Given the description of an element on the screen output the (x, y) to click on. 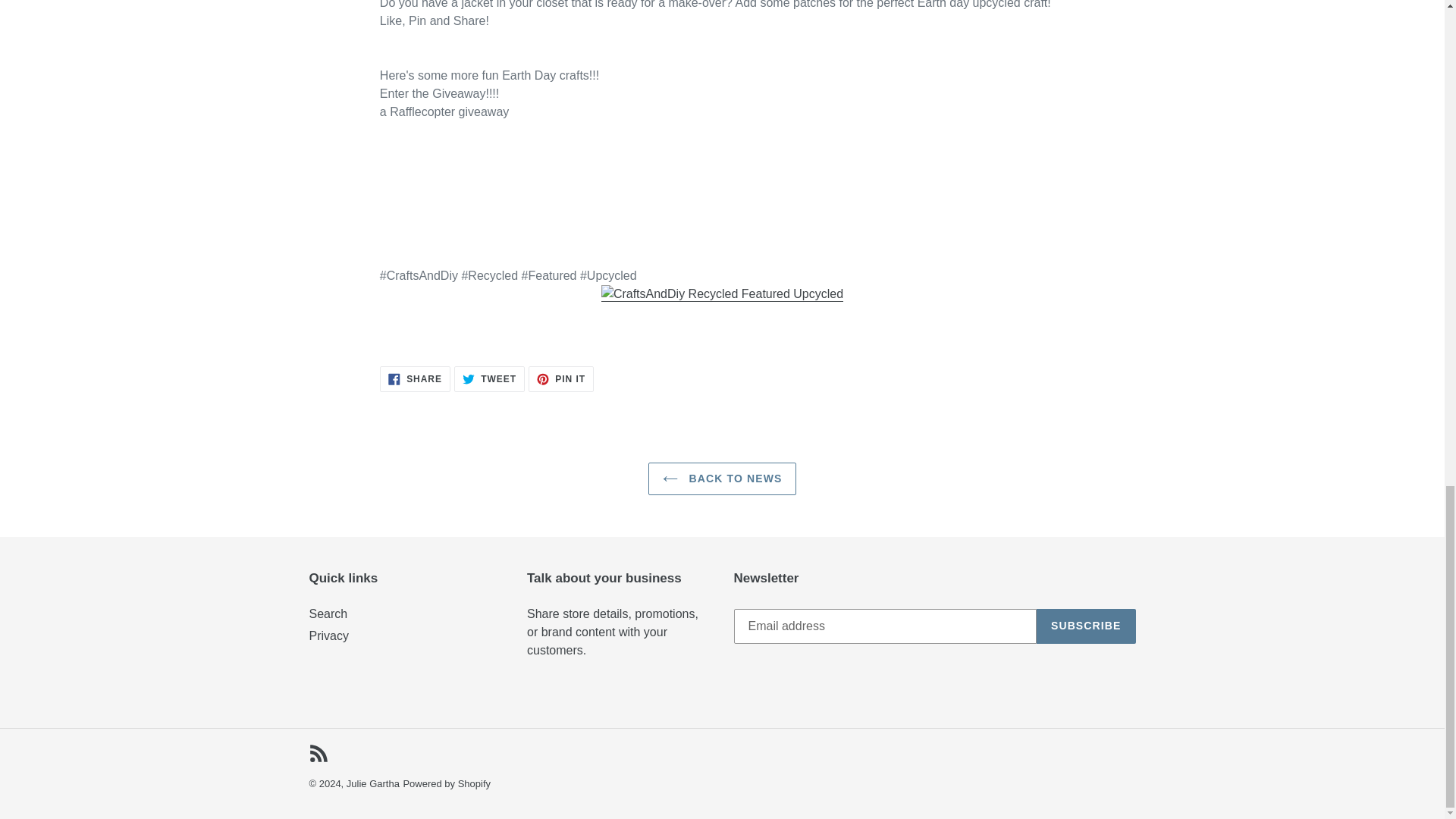
Julie Gartha (414, 379)
SUBSCRIBE (372, 783)
Powered by Shopify (1085, 626)
BACK TO NEWS (489, 379)
RSS (446, 783)
Search (721, 478)
Privacy (318, 752)
